Given the description of an element on the screen output the (x, y) to click on. 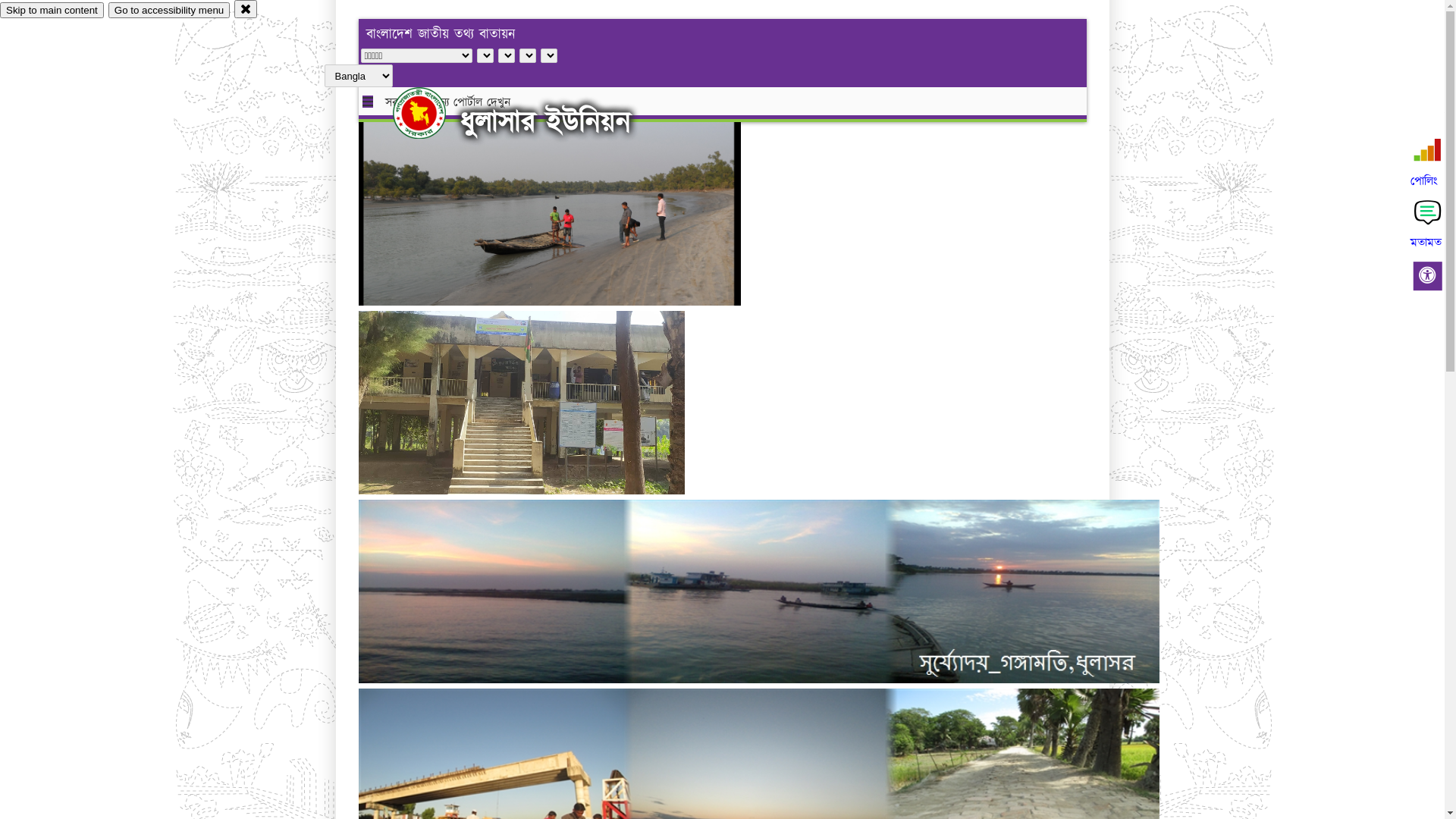
close Element type: hover (245, 9)
Skip to main content Element type: text (51, 10)
Go to accessibility menu Element type: text (168, 10)

                
             Element type: hover (431, 112)
